Given the description of an element on the screen output the (x, y) to click on. 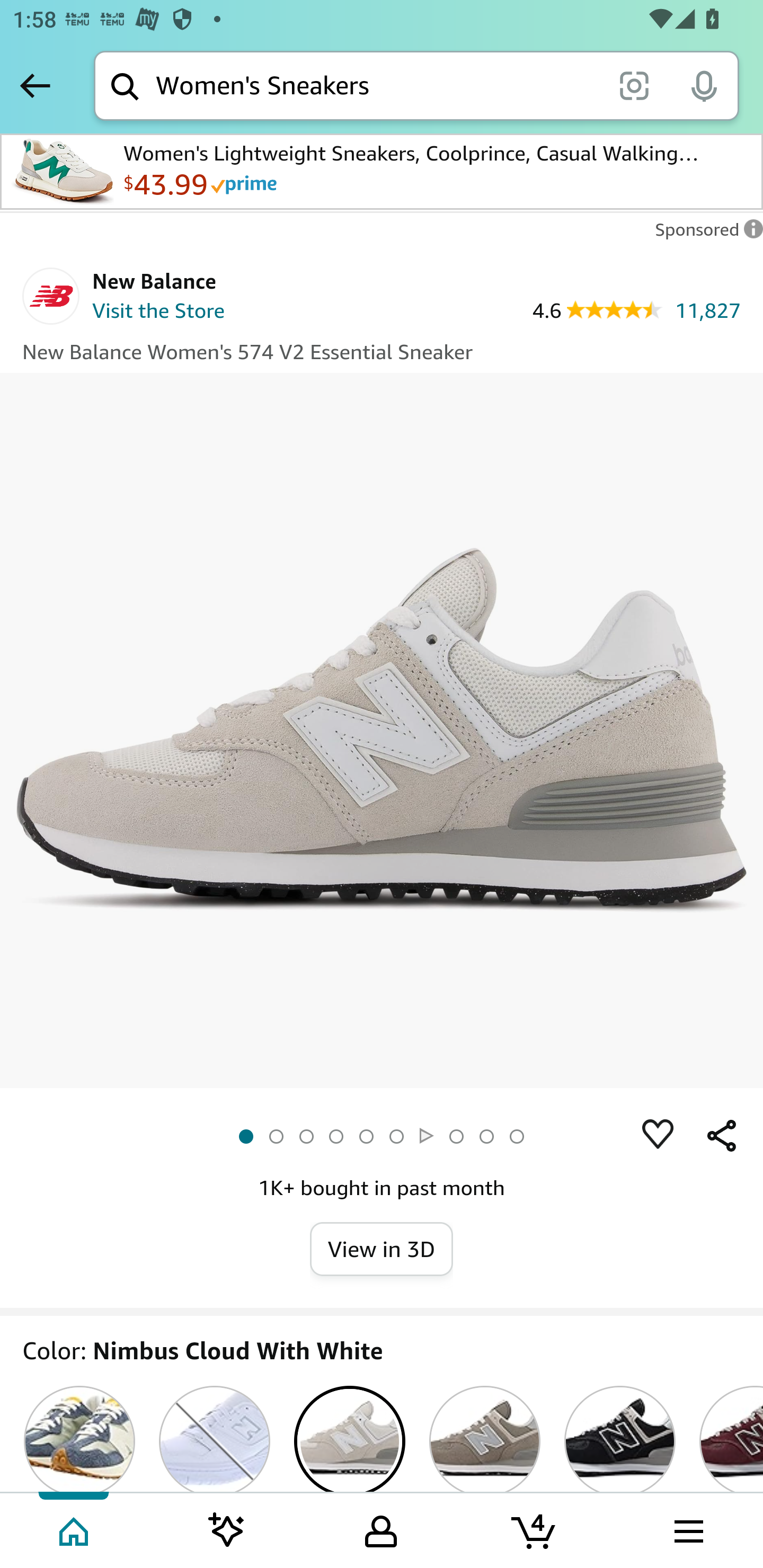
Back (35, 85)
scan it (633, 85)
Leave feedback on Sponsored ad Sponsored  (703, 234)
4.6 11,827 4.6  11,827 (635, 309)
Visit the Store, New Balance (159, 312)
New Balance Women&#39;s 574 V2 Essential Sneaker (381, 729)
Heart to save an item to your default list (657, 1135)
View in 3D (381, 1247)
Grey/Green (79, 1439)
White/White/White (214, 1439)
Grey With White (484, 1439)
Black With White (619, 1439)
Home Tab 1 of 5 (75, 1529)
Inspire feed Tab 2 of 5 (227, 1529)
Your Amazon.com Tab 3 of 5 (380, 1529)
Cart 4 items Tab 4 of 5 4 (534, 1529)
Browse menu Tab 5 of 5 (687, 1529)
